Given the description of an element on the screen output the (x, y) to click on. 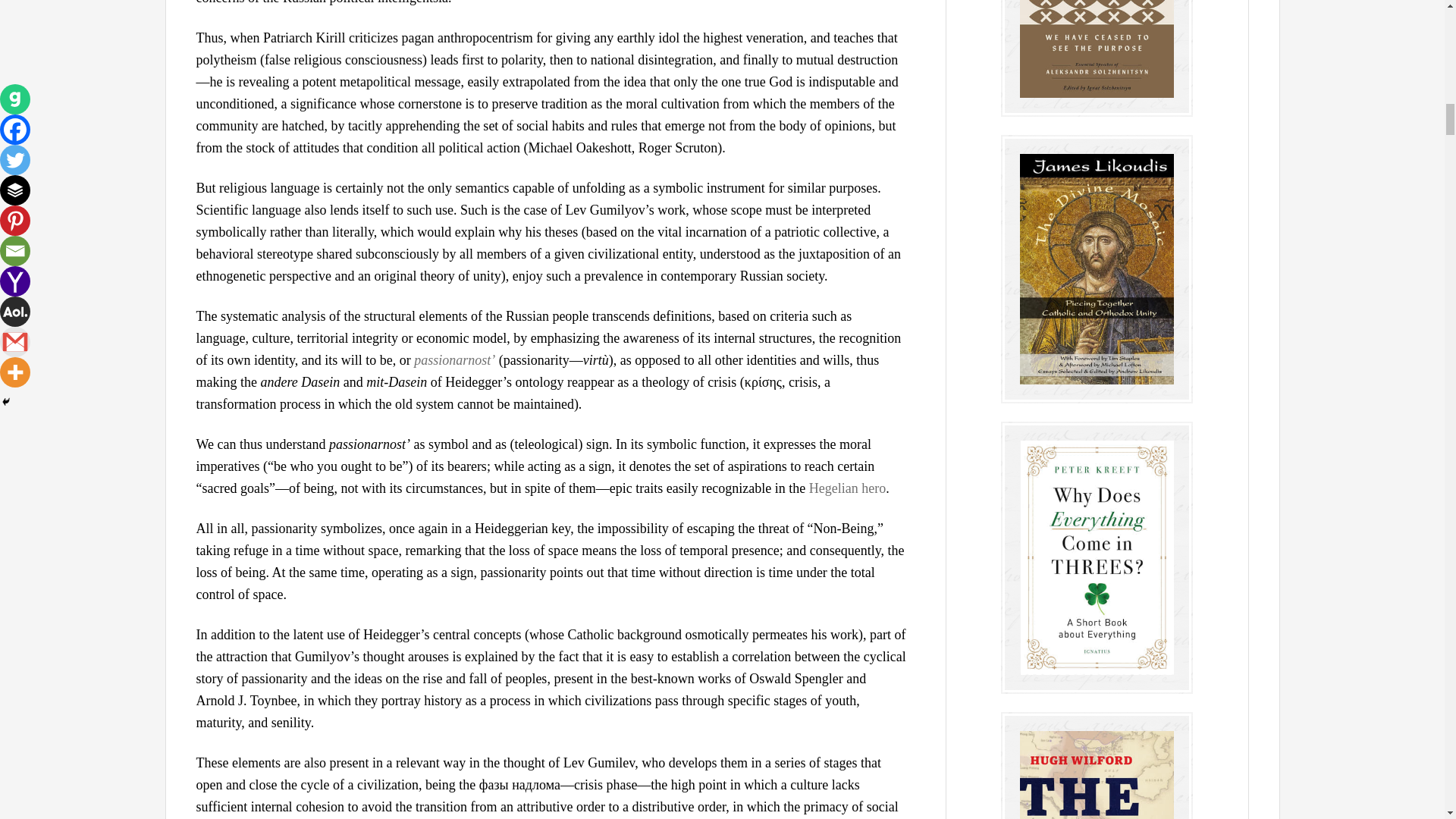
Hegelian hero (847, 488)
